Given the description of an element on the screen output the (x, y) to click on. 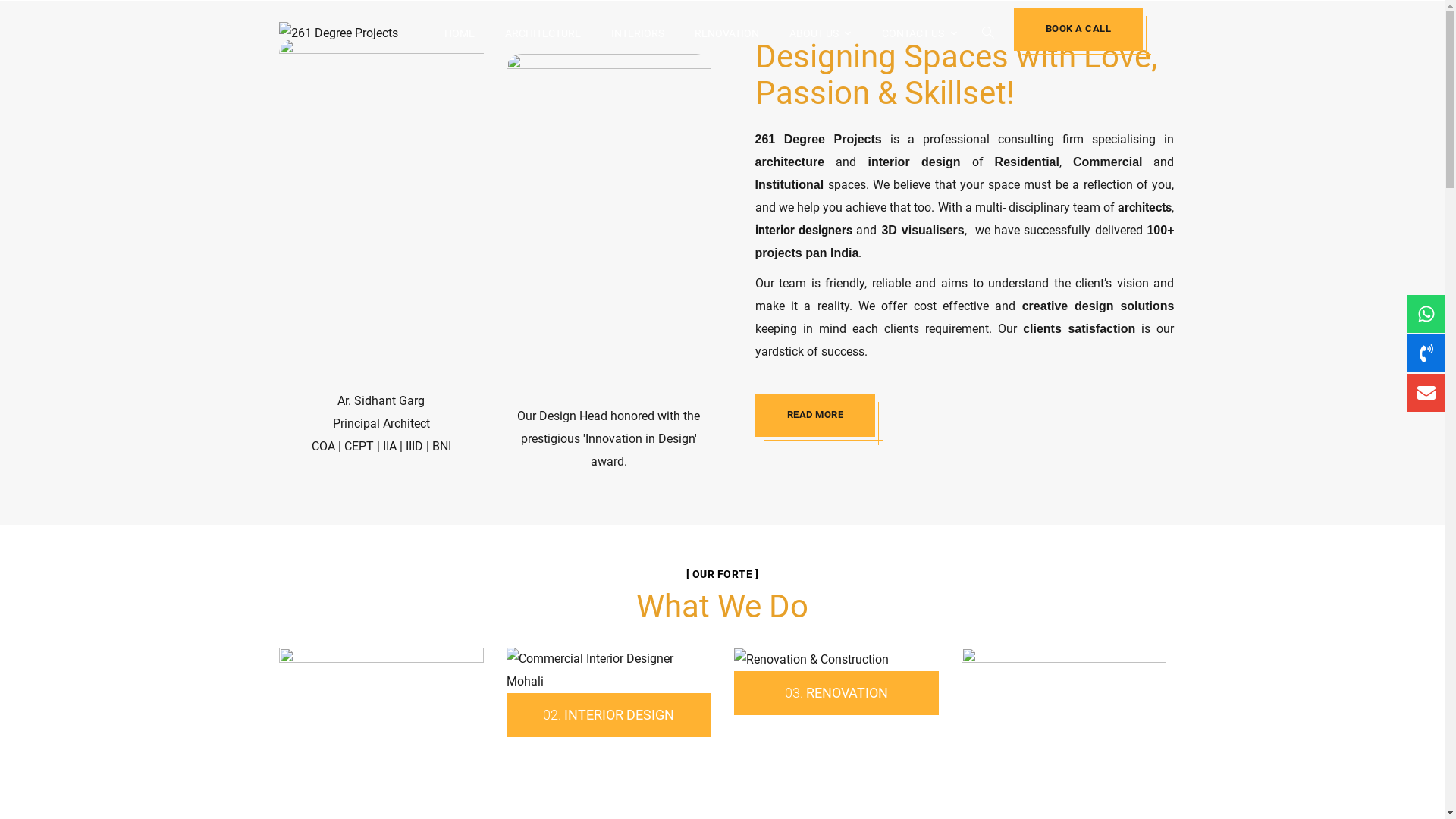
ABOUT US Element type: text (819, 32)
02. INTERIOR DESIGN Element type: text (608, 714)
HOME Element type: text (459, 32)
ARCHITECTURE Element type: text (542, 32)
CONTACT US Element type: text (918, 32)
INTERIORS Element type: text (637, 32)
RENOVATION Element type: text (726, 32)
BOOK A CALL Element type: text (1078, 28)
03. RENOVATION Element type: text (835, 692)
READ MORE Element type: text (815, 414)
